Given the description of an element on the screen output the (x, y) to click on. 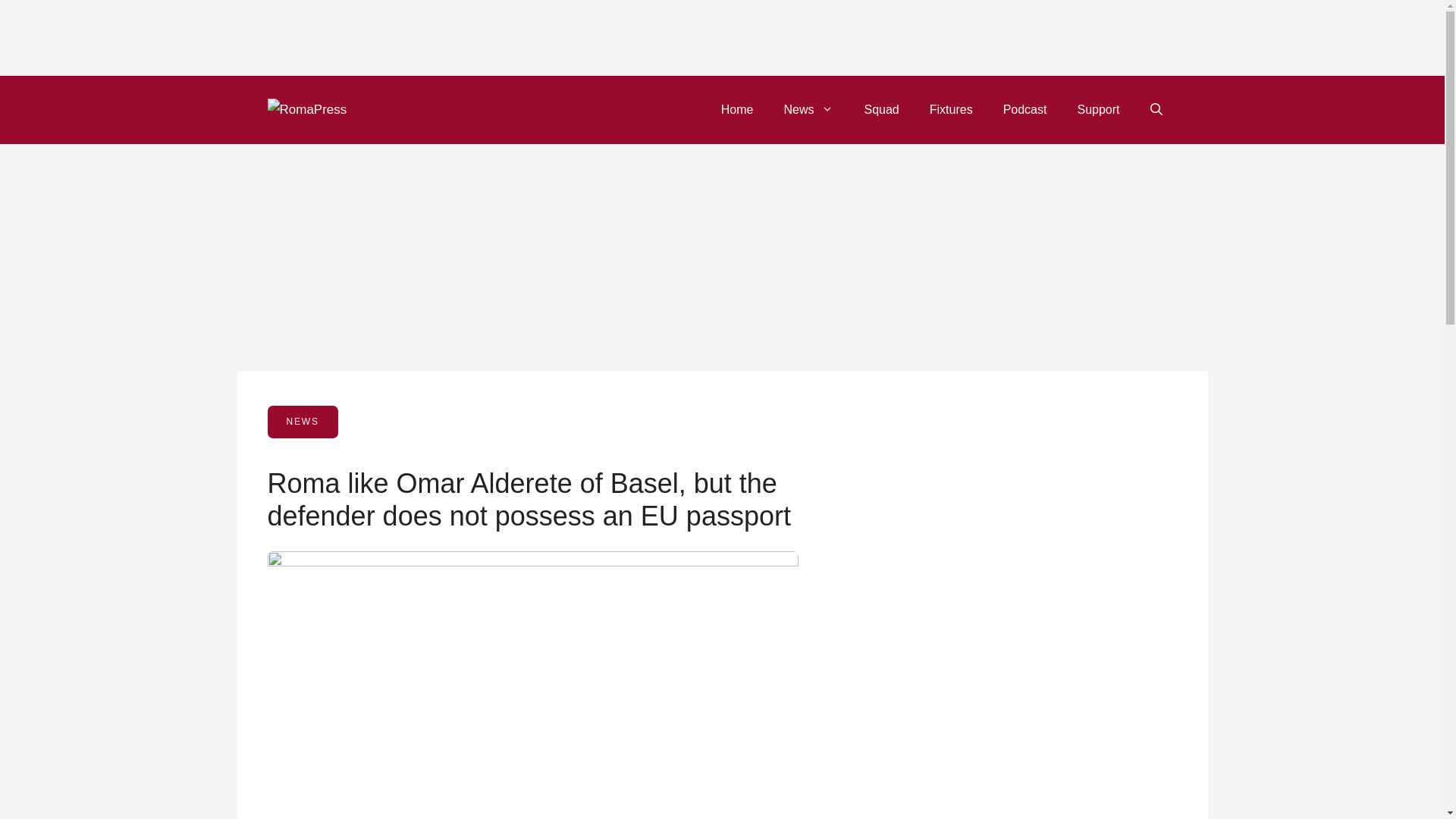
Fixtures (951, 109)
Home (737, 109)
Squad (881, 109)
News (808, 109)
Podcast (1025, 109)
Support (1097, 109)
